Given the description of an element on the screen output the (x, y) to click on. 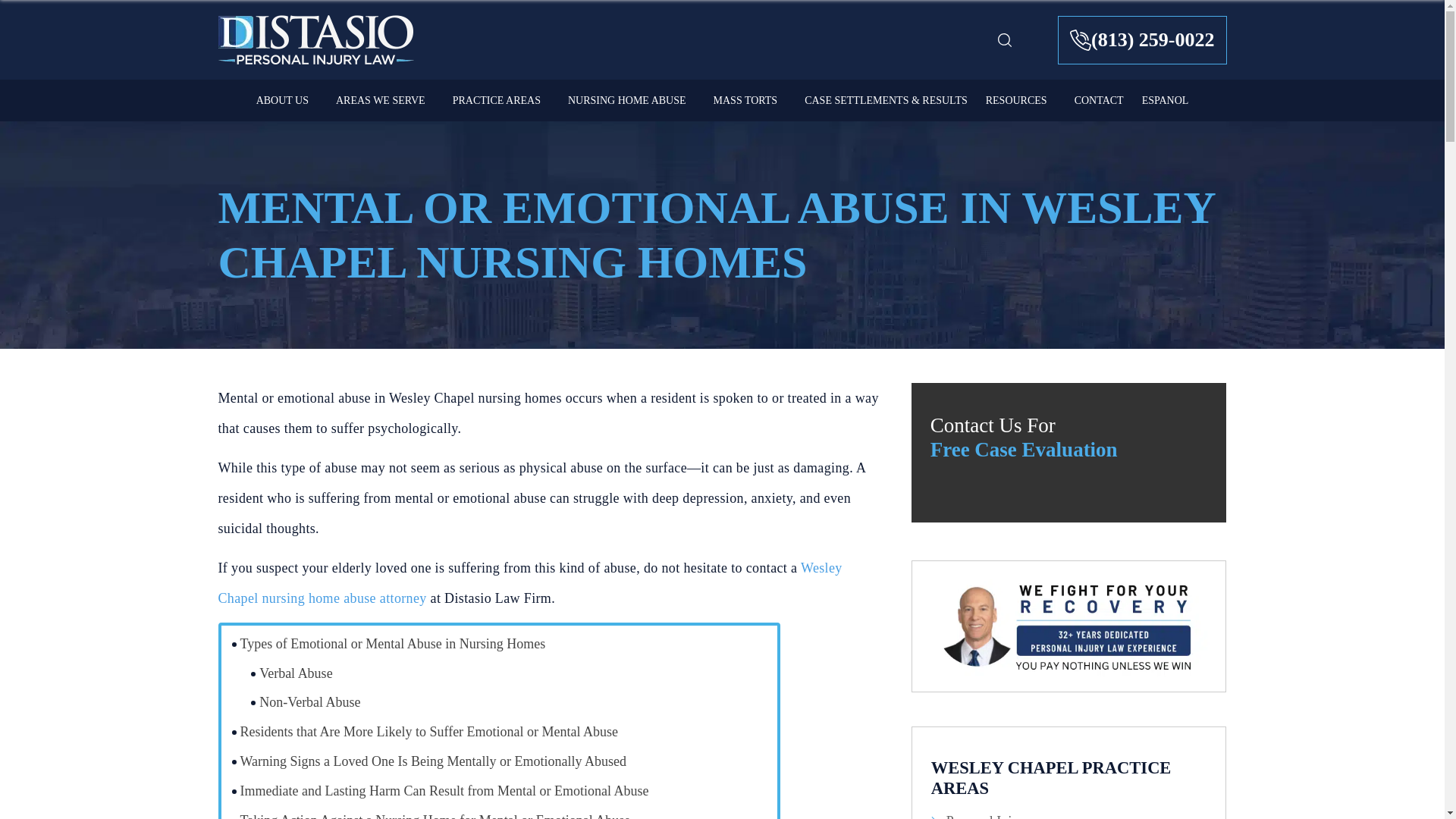
Verbal Abuse (289, 673)
Types of Emotional or Mental Abuse in Nursing Homes (387, 644)
Non-Verbal Abuse (303, 702)
